Given the description of an element on the screen output the (x, y) to click on. 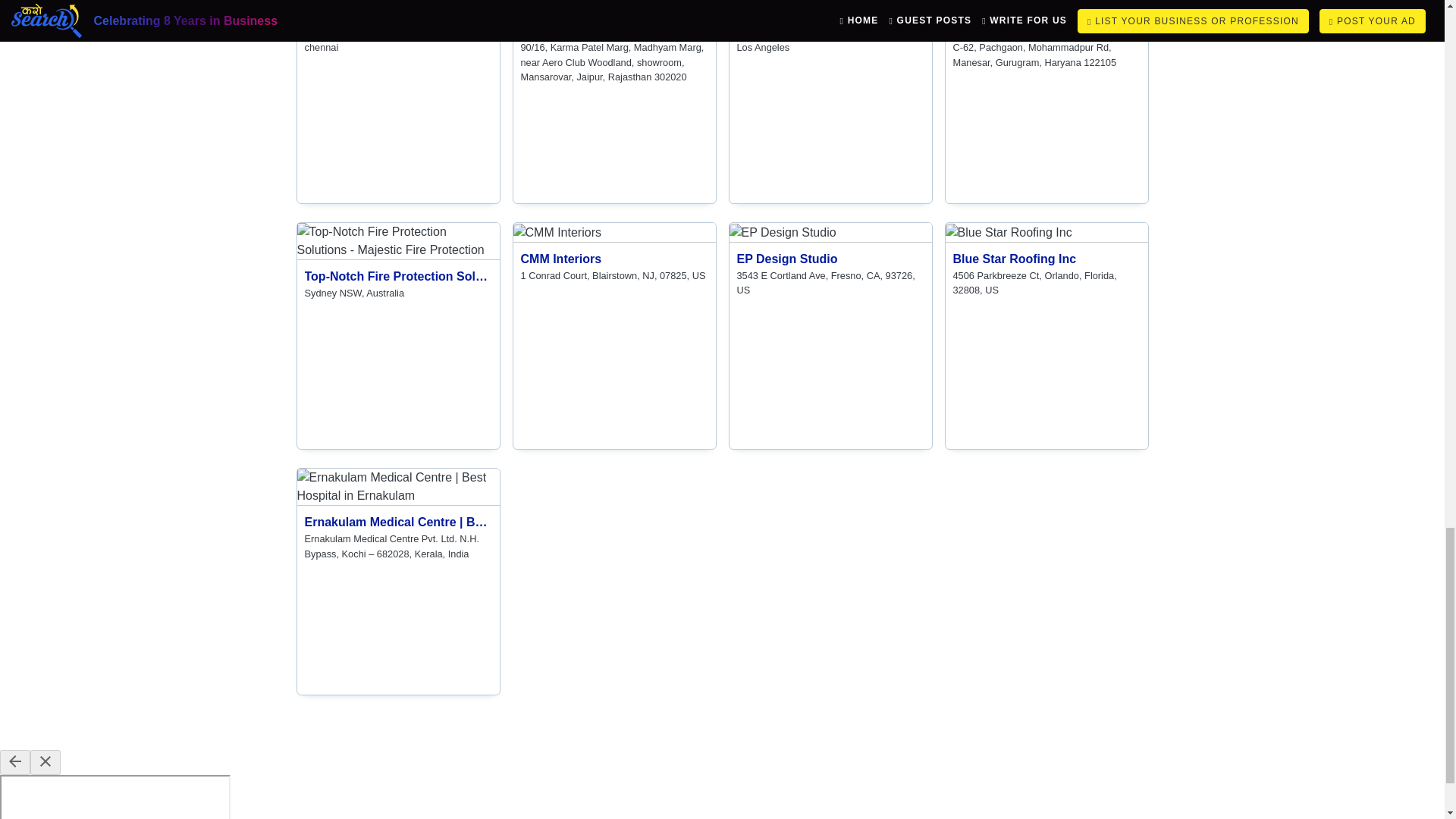
CMM Interiors (555, 232)
Simbliss Farmhouse - Farmhouse for Wedding In Gurgaon (830, 263)
